Given the description of an element on the screen output the (x, y) to click on. 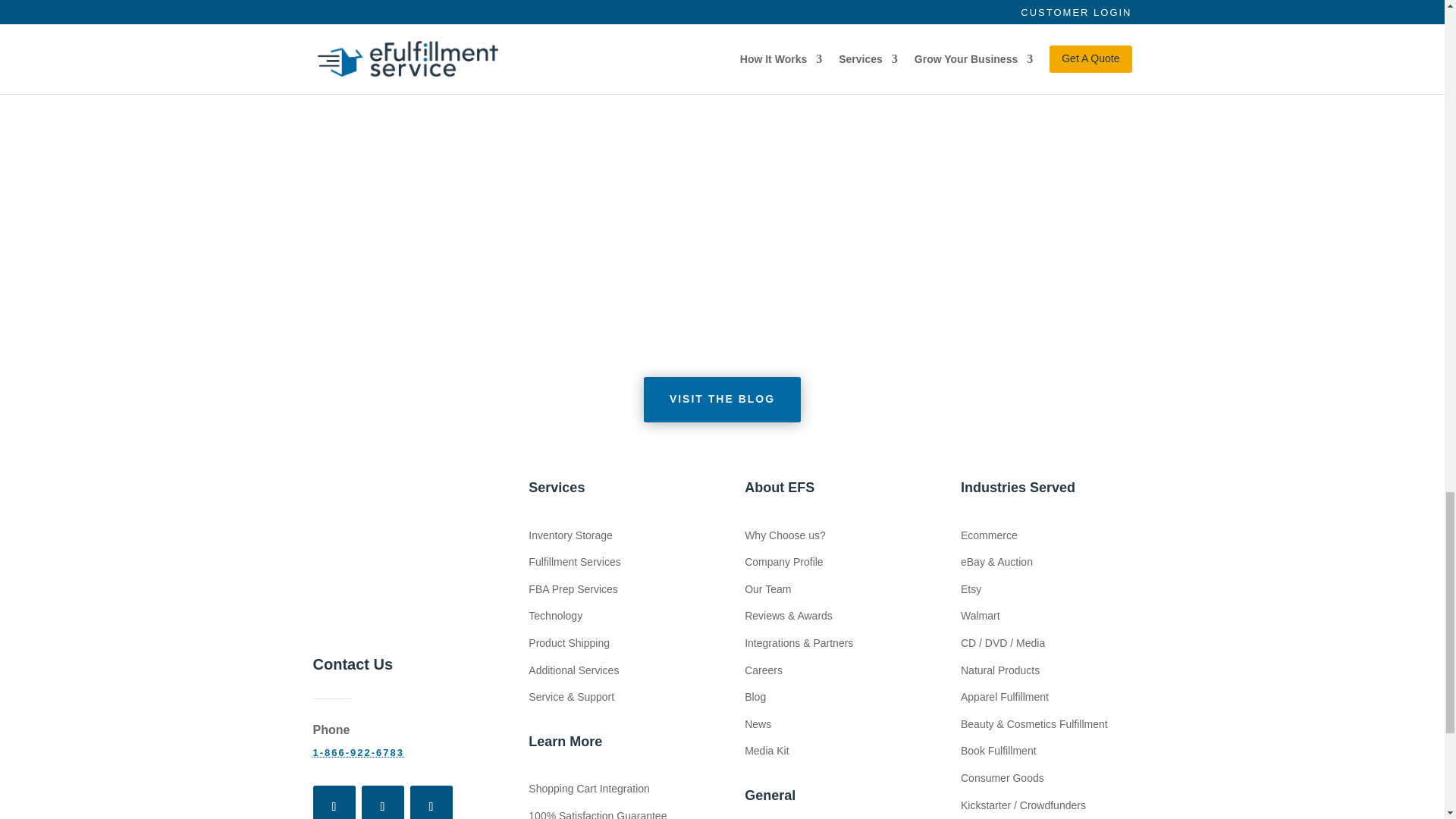
Follow on Facebook (334, 802)
Follow on Youtube (430, 802)
Follow on X (382, 802)
